Given the description of an element on the screen output the (x, y) to click on. 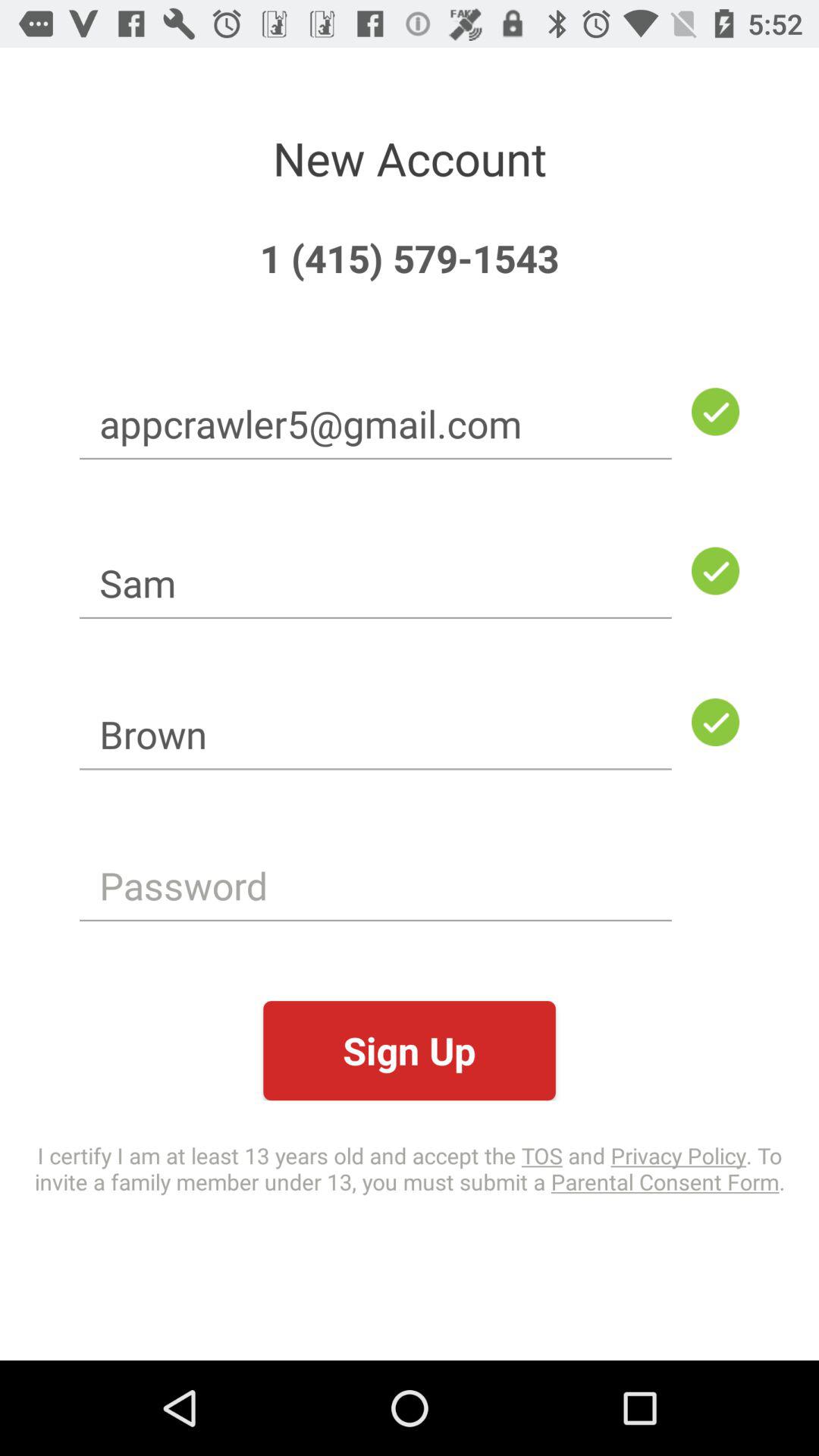
open the item above brown item (375, 582)
